Given the description of an element on the screen output the (x, y) to click on. 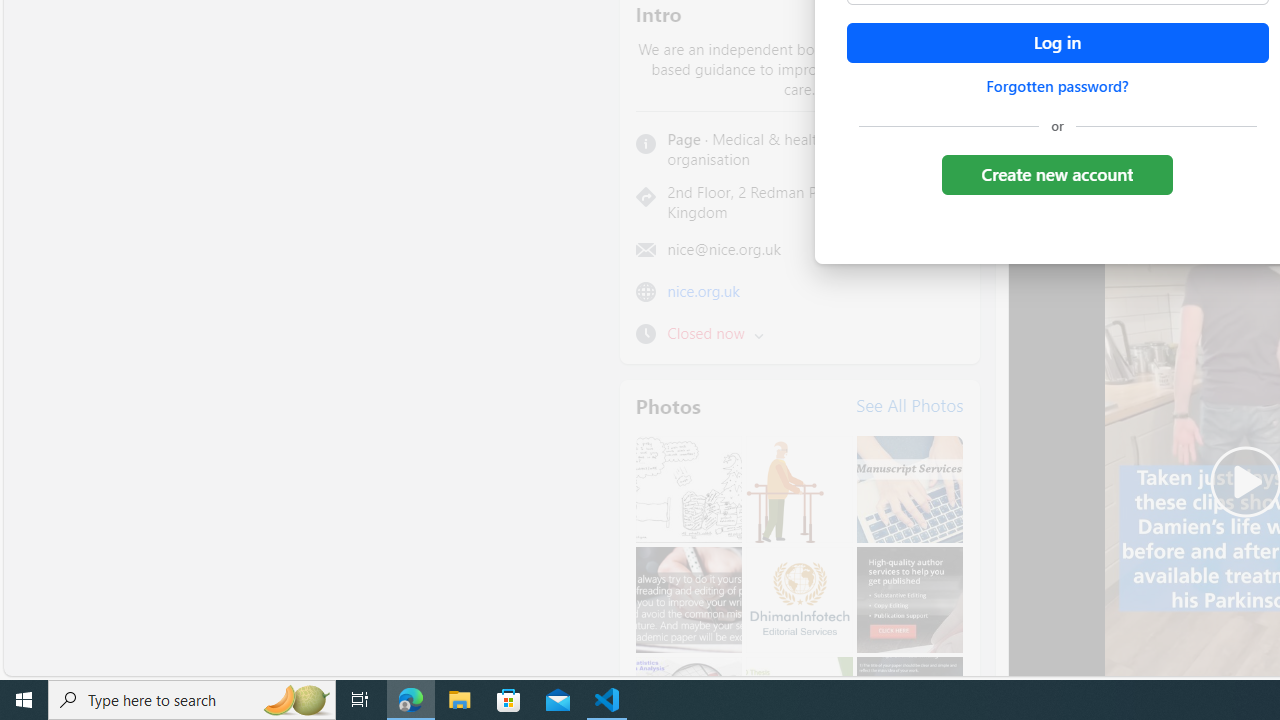
Accessible login button (1057, 43)
Create new account (1056, 174)
Forgotten password? (1057, 85)
